Given the description of an element on the screen output the (x, y) to click on. 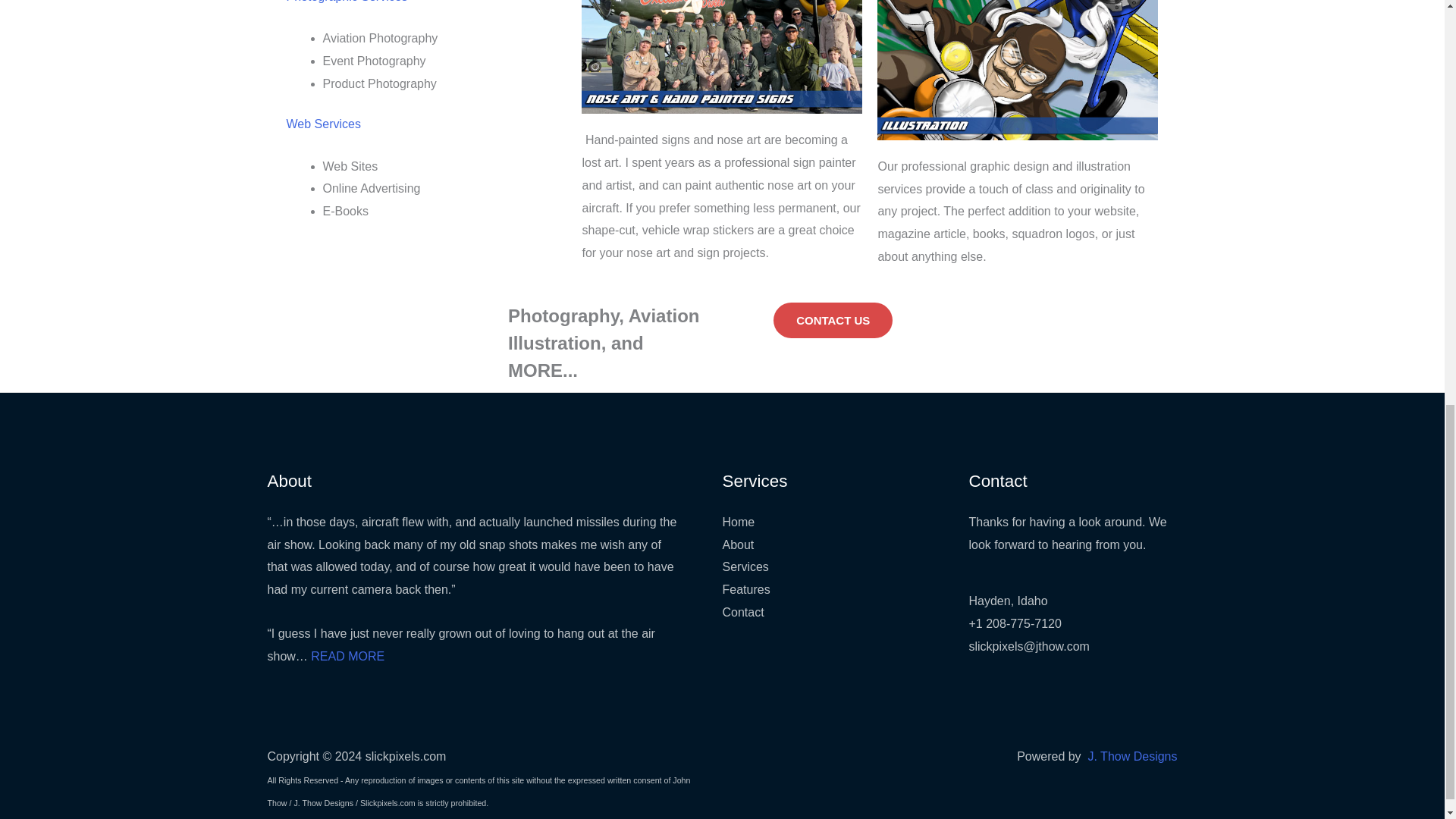
Features (746, 589)
Services (745, 566)
Contact (742, 612)
Hayden, Idaho (1008, 600)
About (738, 544)
Photographic Services (346, 1)
READ MORE (347, 656)
Web Services (323, 123)
J. Thow Designs (1132, 756)
Home (738, 521)
CONTACT US (832, 320)
